Given the description of an element on the screen output the (x, y) to click on. 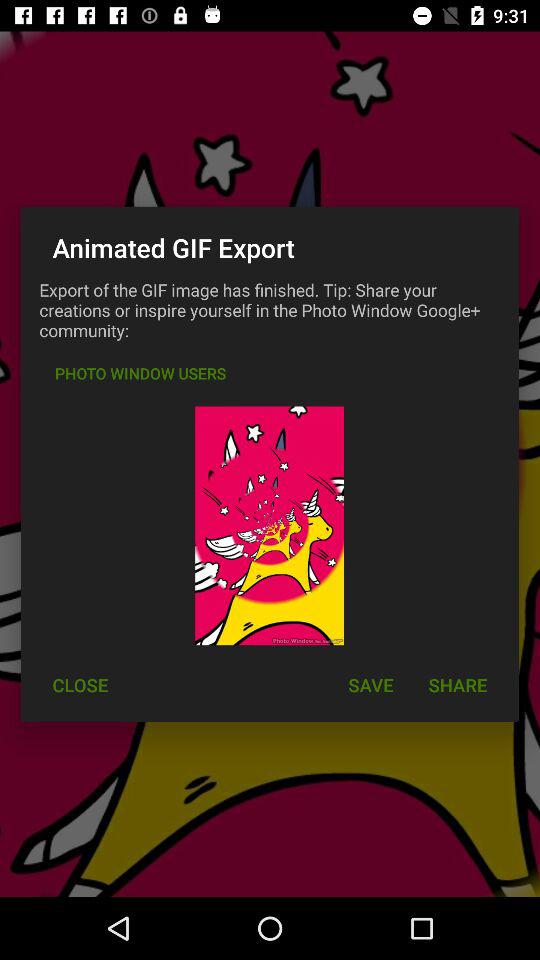
select close icon (80, 684)
